Given the description of an element on the screen output the (x, y) to click on. 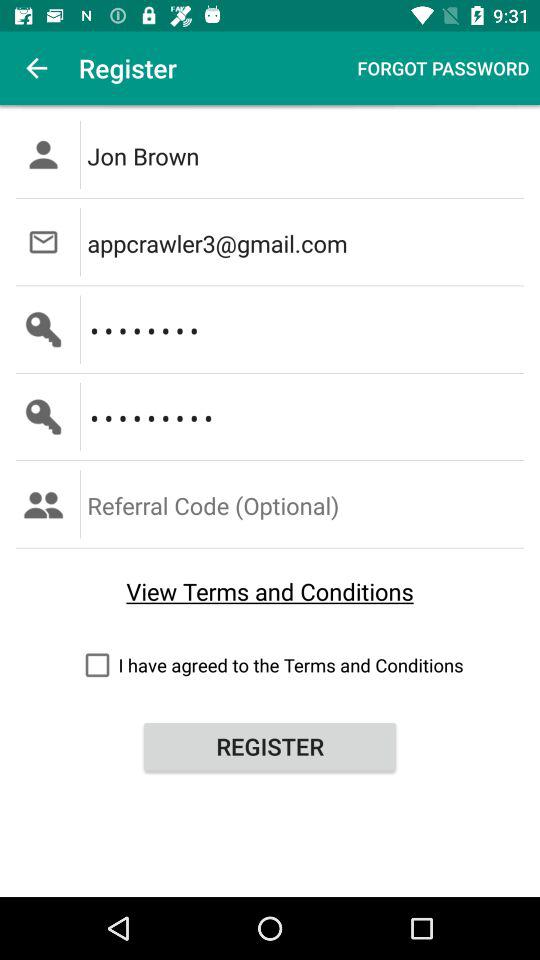
press the i have agreed (269, 664)
